Given the description of an element on the screen output the (x, y) to click on. 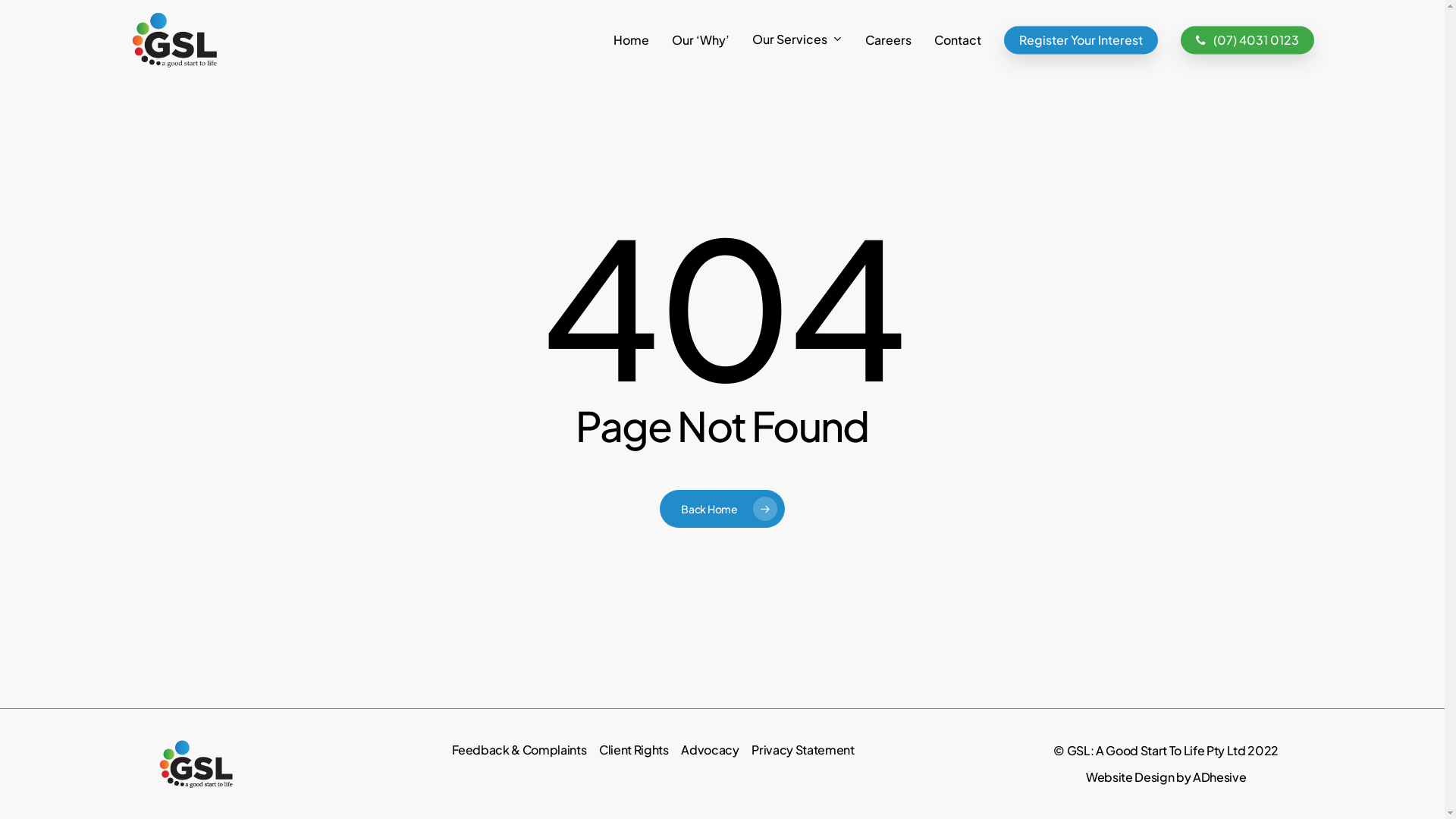
Register Your Interest Element type: text (1080, 39)
Home Element type: text (631, 39)
Feedback & Complaints Element type: text (518, 749)
(07) 4031 0123 Element type: text (1247, 39)
Client Rights Element type: text (633, 749)
Advocacy Element type: text (709, 749)
Our Services Element type: text (797, 40)
Privacy Statement Element type: text (802, 749)
Contact Element type: text (957, 39)
ADhesive Element type: text (1218, 776)
Careers Element type: text (888, 39)
Back Home Element type: text (721, 508)
